Given the description of an element on the screen output the (x, y) to click on. 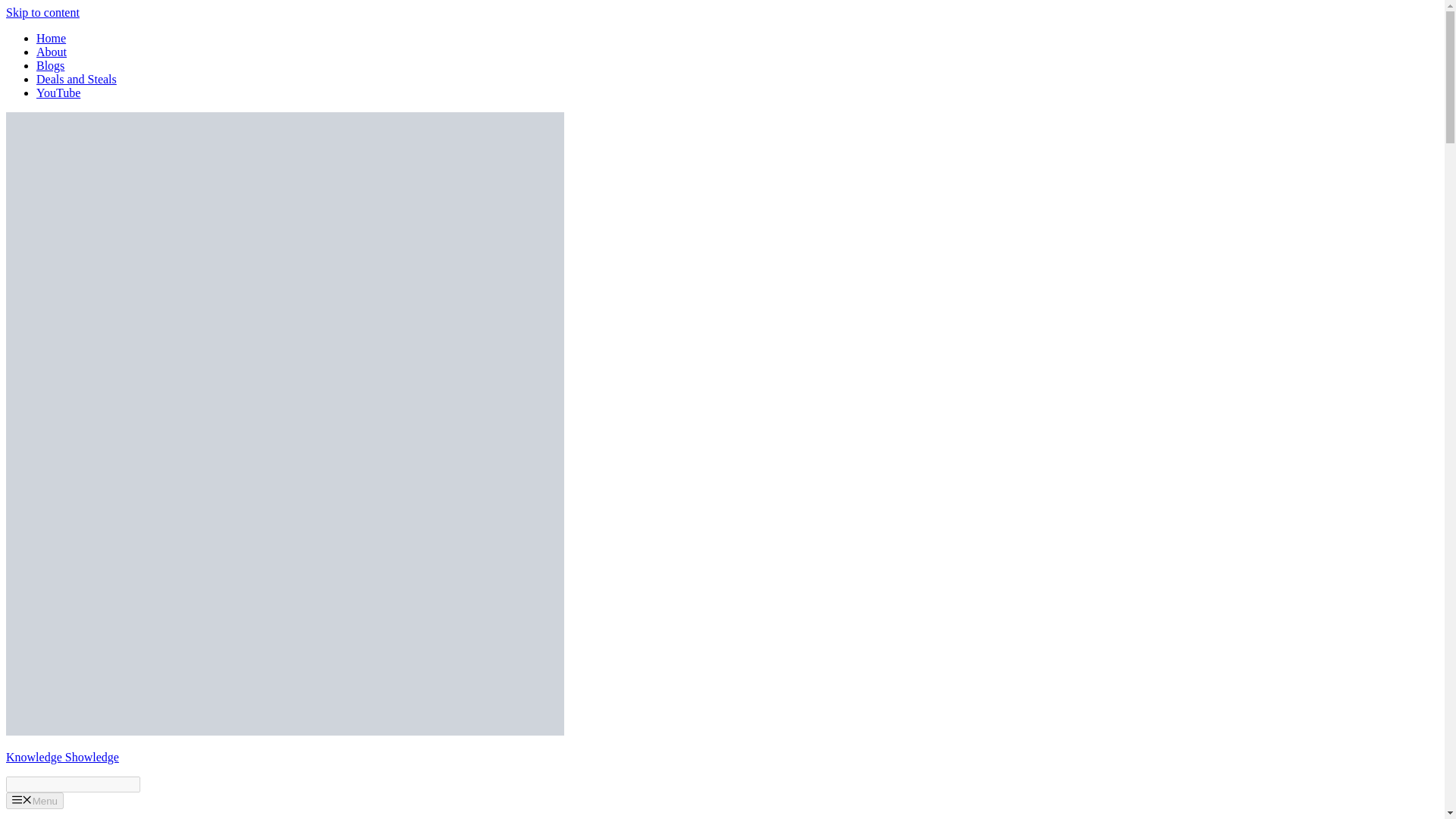
Skip to content (42, 11)
Home (50, 38)
Skip to content (42, 11)
YouTube (58, 92)
Menu (34, 800)
About (51, 51)
Knowledge Showledge (284, 730)
Blogs (50, 65)
Search (72, 784)
Knowledge Showledge (62, 757)
Deals and Steals (76, 78)
